Given the description of an element on the screen output the (x, y) to click on. 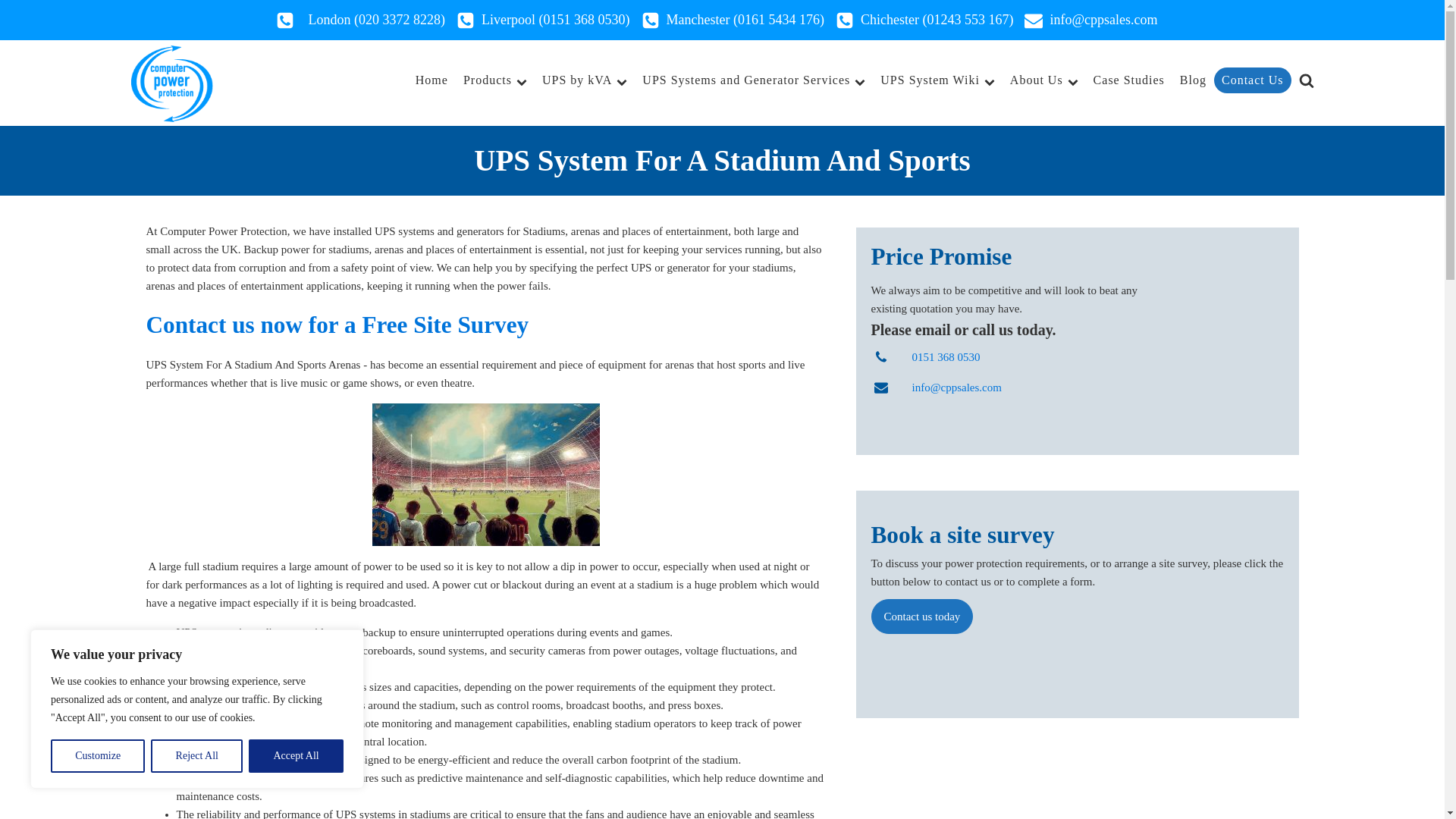
Products (494, 80)
Accept All (295, 756)
Customize (97, 756)
Home (431, 80)
Reject All (197, 756)
